Given the description of an element on the screen output the (x, y) to click on. 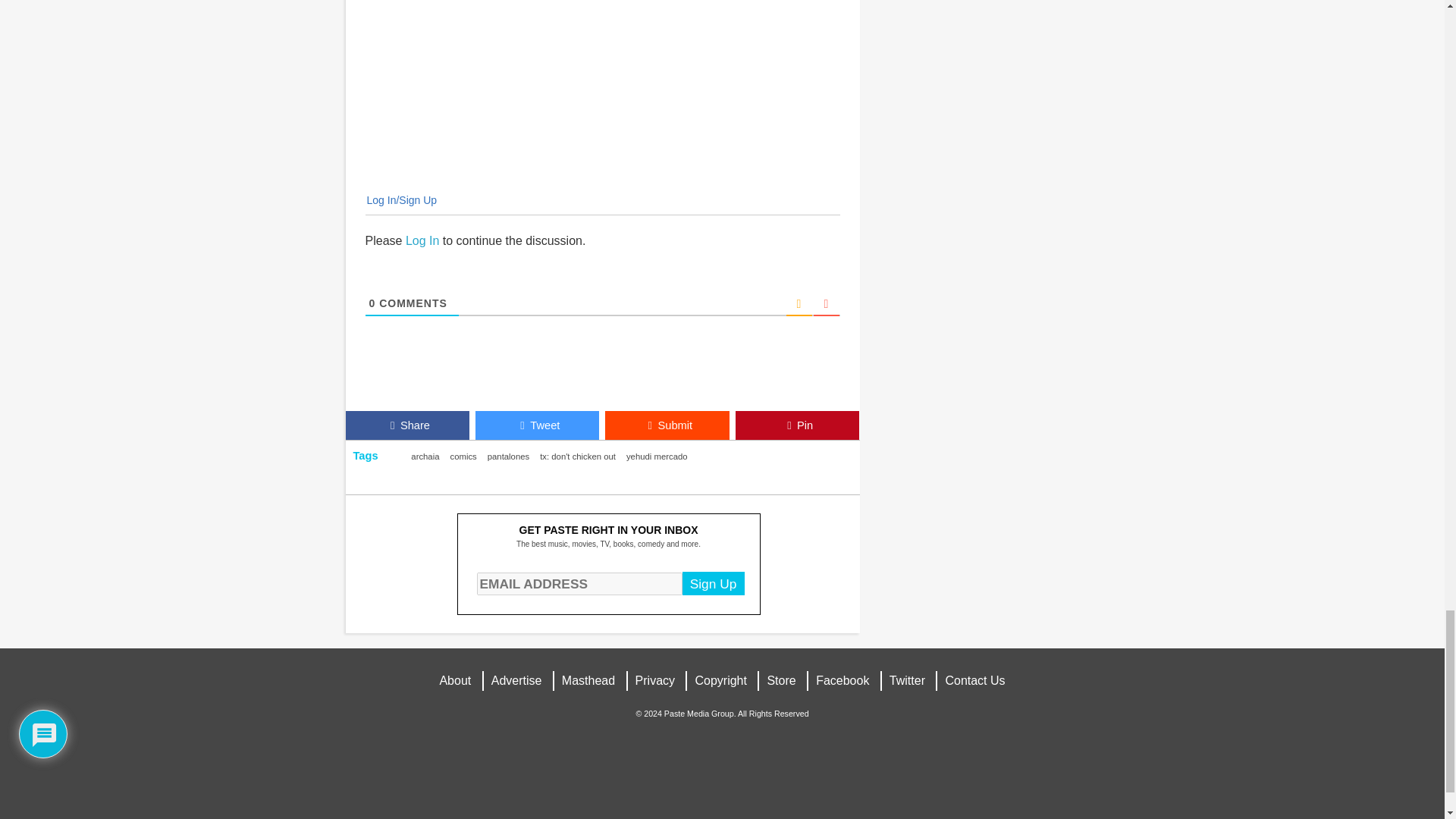
0 (371, 303)
